Given the description of an element on the screen output the (x, y) to click on. 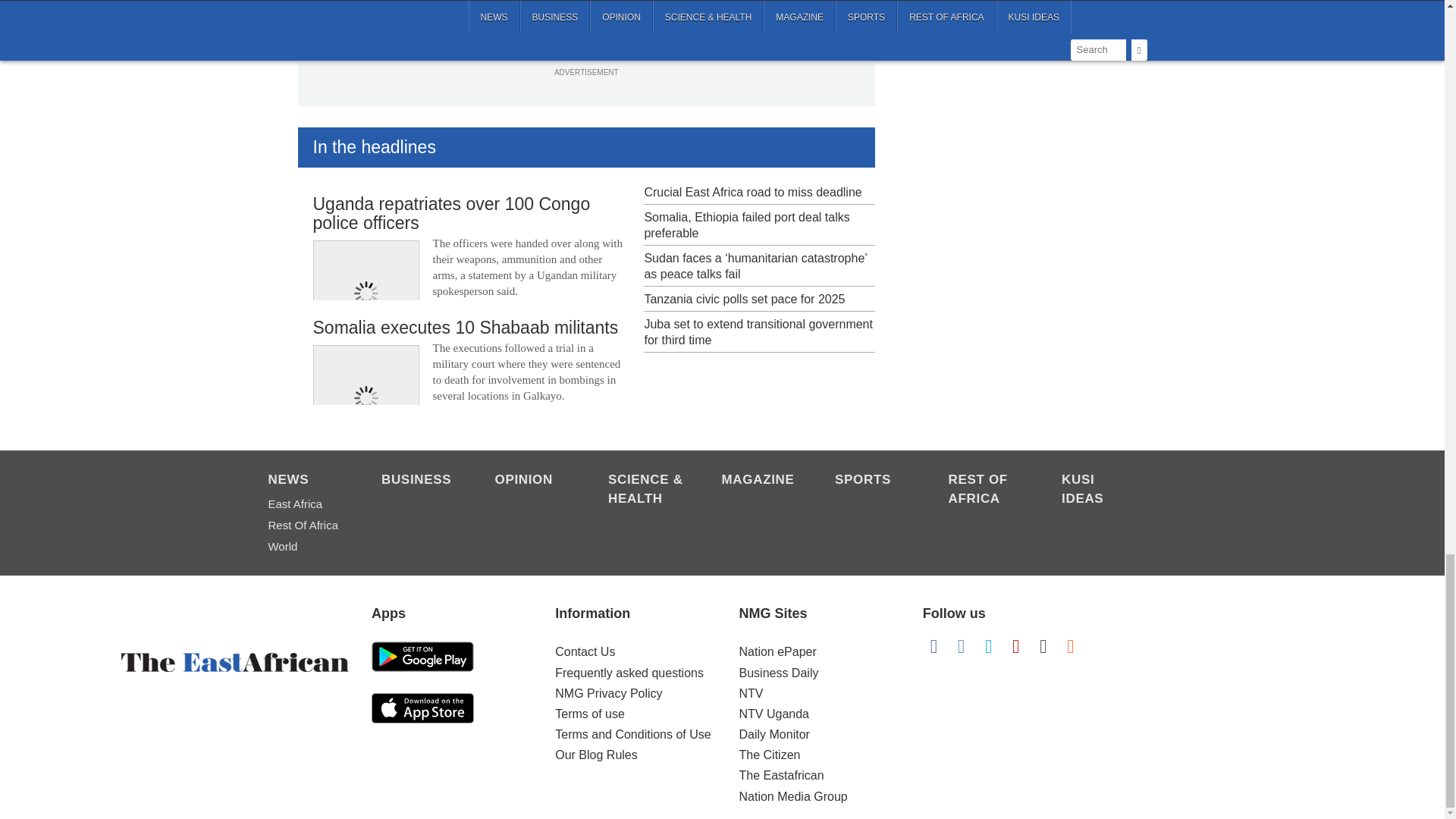
NMG Privacy Policy (608, 693)
World (306, 546)
Rest of Africa (306, 525)
Rest of Africa (987, 490)
Sports (873, 480)
Frequently asked questions (628, 672)
KUSI IDEAS (1099, 490)
Contact Us (584, 651)
News (306, 480)
Opinion (533, 480)
